Given the description of an element on the screen output the (x, y) to click on. 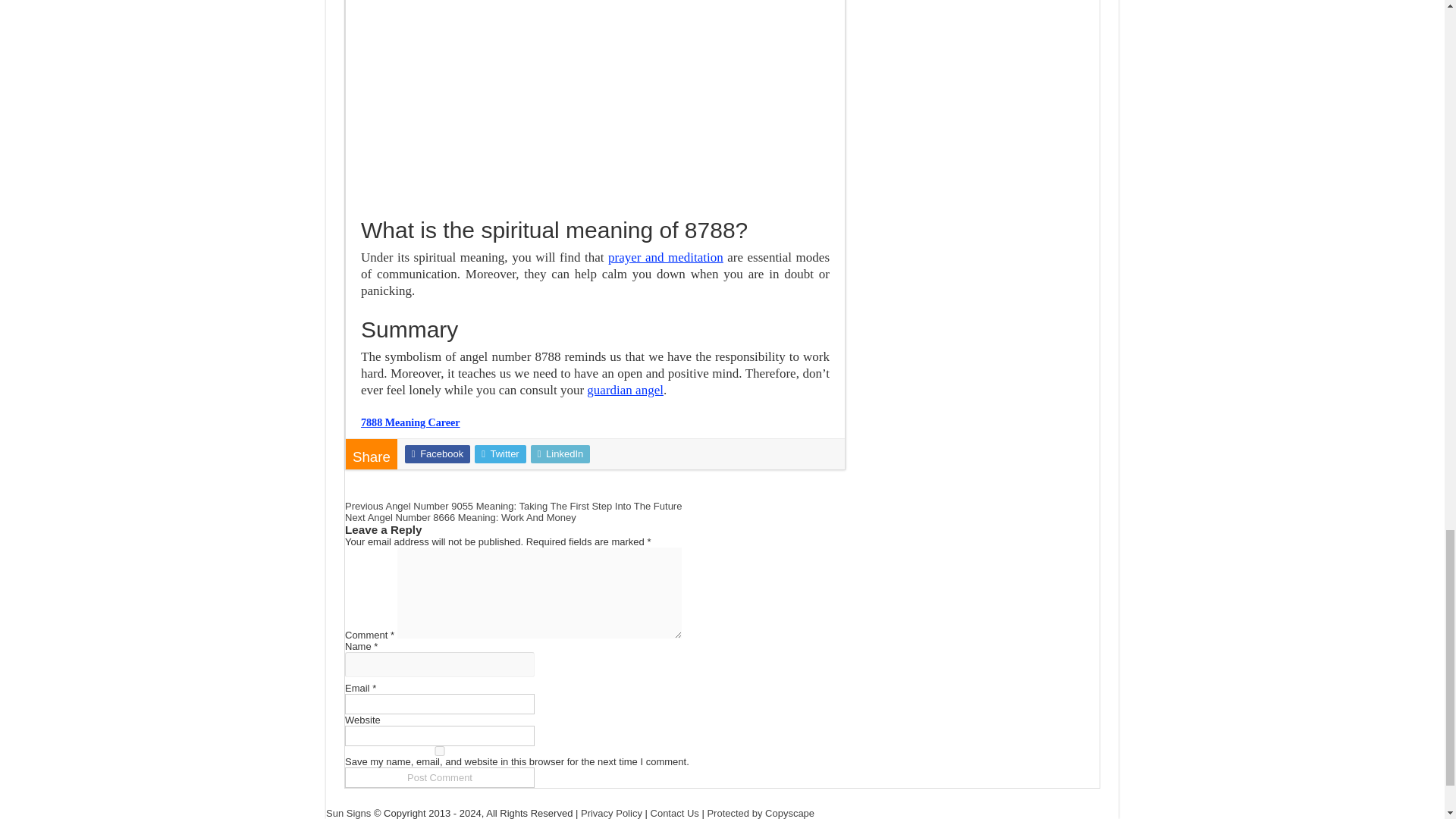
Twitter (499, 454)
7888 Meaning Career (410, 422)
prayer and meditation (665, 257)
yes (439, 750)
guardian angel (624, 390)
7888 Meaning Career (410, 422)
Facebook (437, 454)
Post Comment (439, 777)
